Given the description of an element on the screen output the (x, y) to click on. 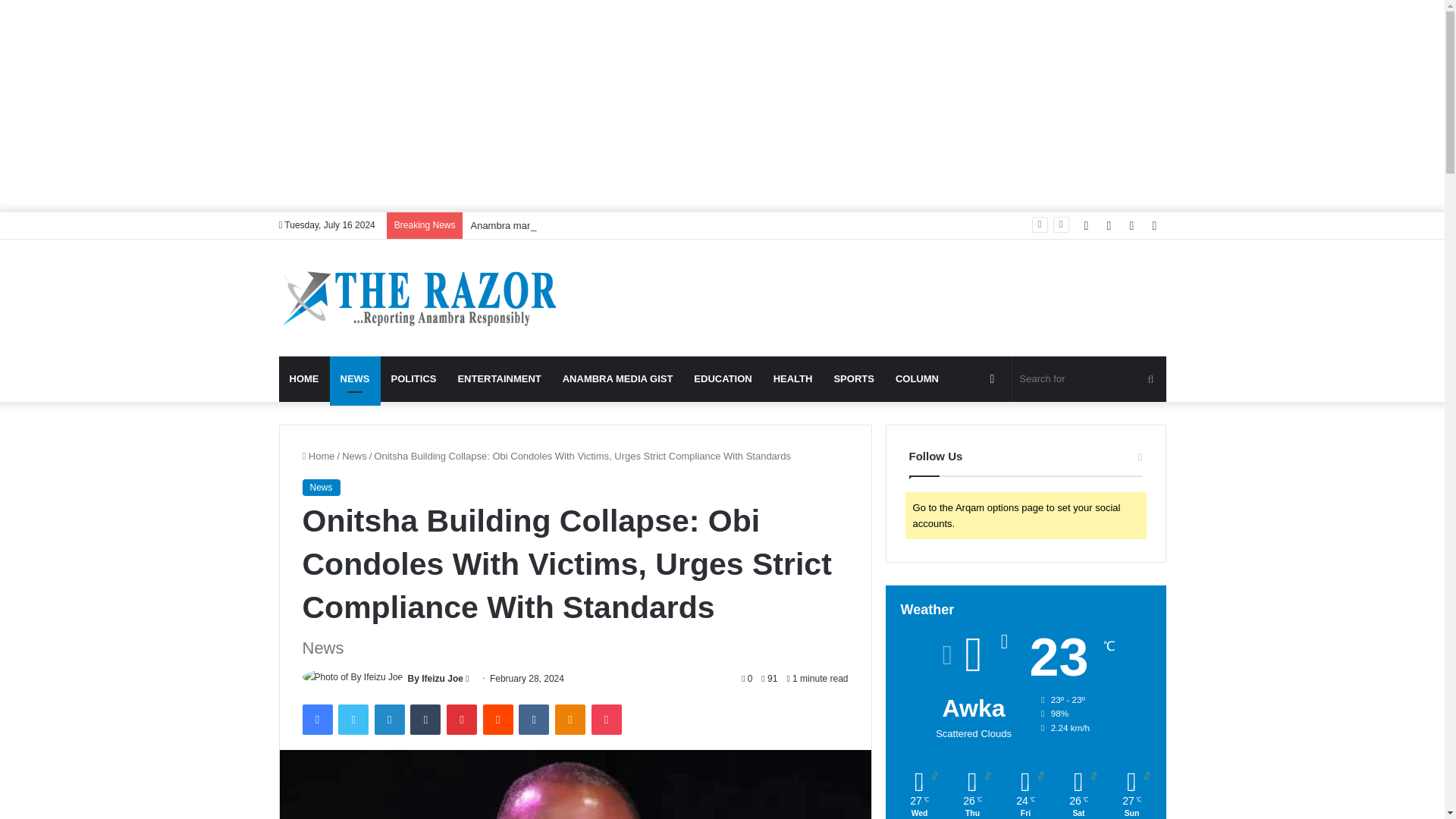
Pinterest (461, 719)
Twitter (352, 719)
Pinterest (461, 719)
Anambra man vanishes after answering phone call (580, 225)
Facebook (316, 719)
Tumblr (425, 719)
News (354, 455)
VKontakte (533, 719)
Reddit (498, 719)
By Ifeizu Joe (435, 678)
The Razor News (419, 297)
LinkedIn (389, 719)
Tumblr (425, 719)
LinkedIn (389, 719)
News (320, 487)
